Given the description of an element on the screen output the (x, y) to click on. 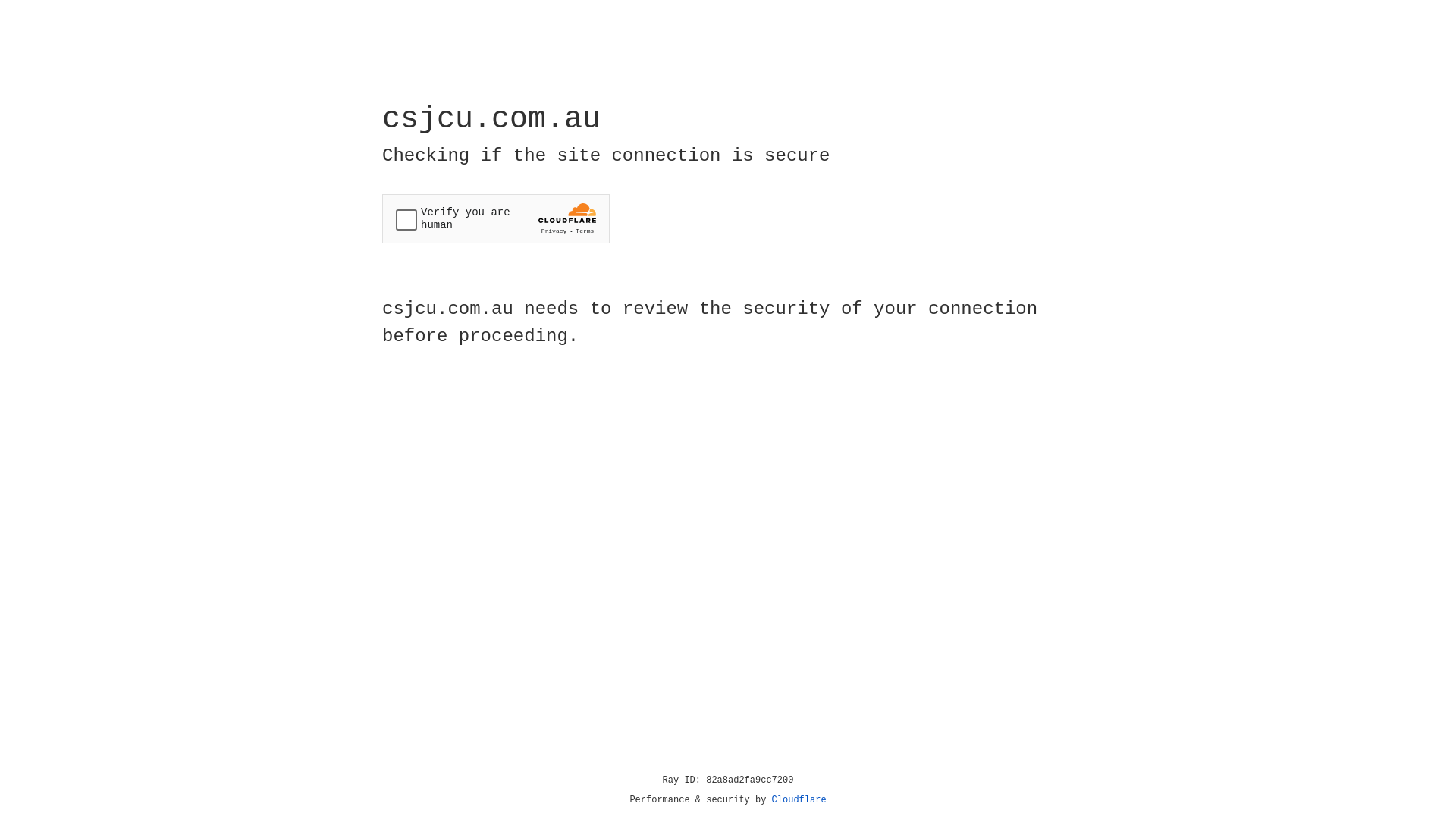
Widget containing a Cloudflare security challenge Element type: hover (495, 218)
Cloudflare Element type: text (798, 799)
